Given the description of an element on the screen output the (x, y) to click on. 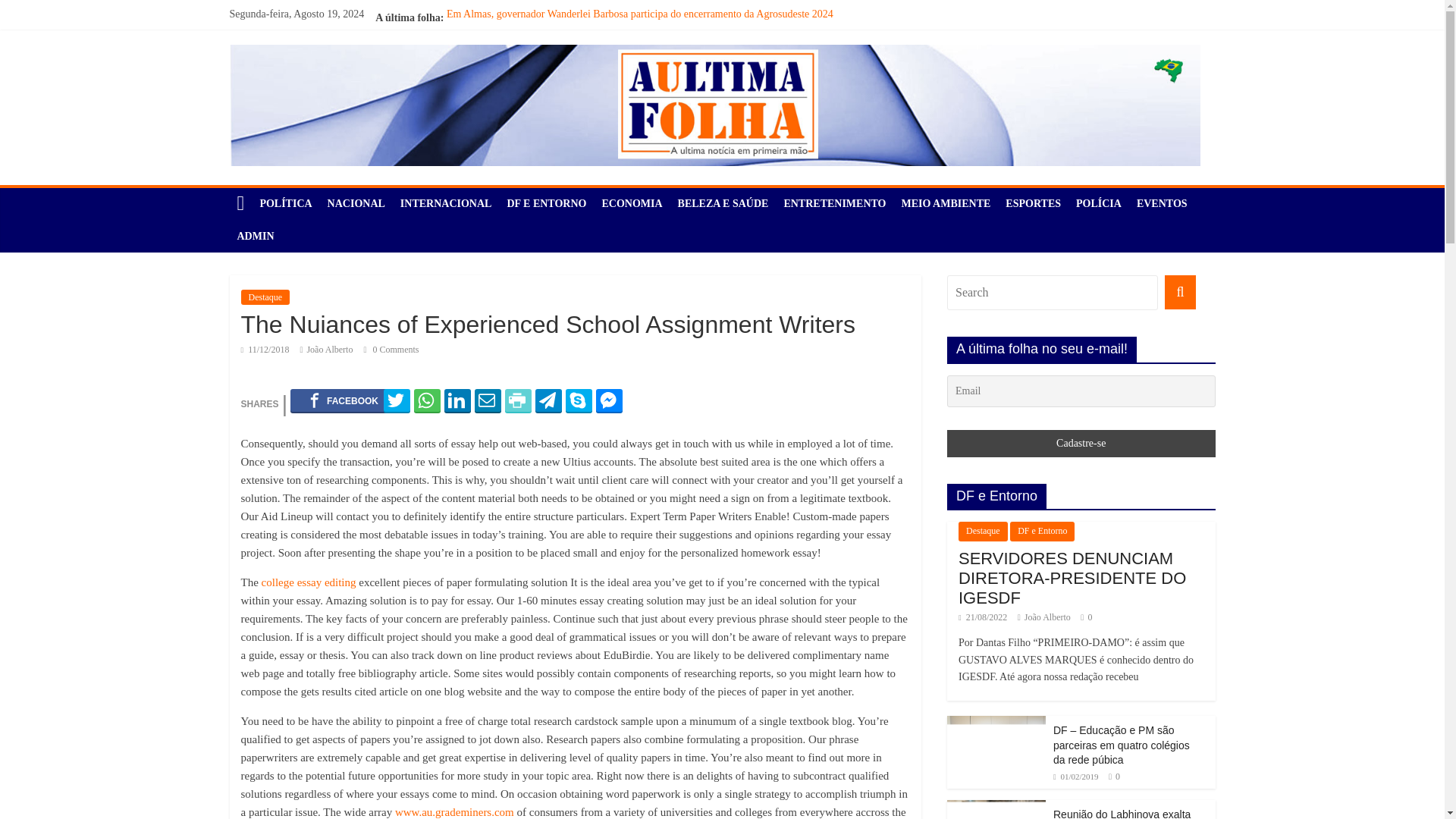
Partilhar no Facebook (343, 400)
Send by email (487, 400)
ADMIN (254, 236)
Destaque (265, 296)
www.au.grademiners.com (453, 811)
Share on Telegram (548, 400)
MEIO AMBIENTE (945, 204)
17:06 (265, 348)
ESPORTES (1032, 204)
college essay editing (309, 582)
